Given the description of an element on the screen output the (x, y) to click on. 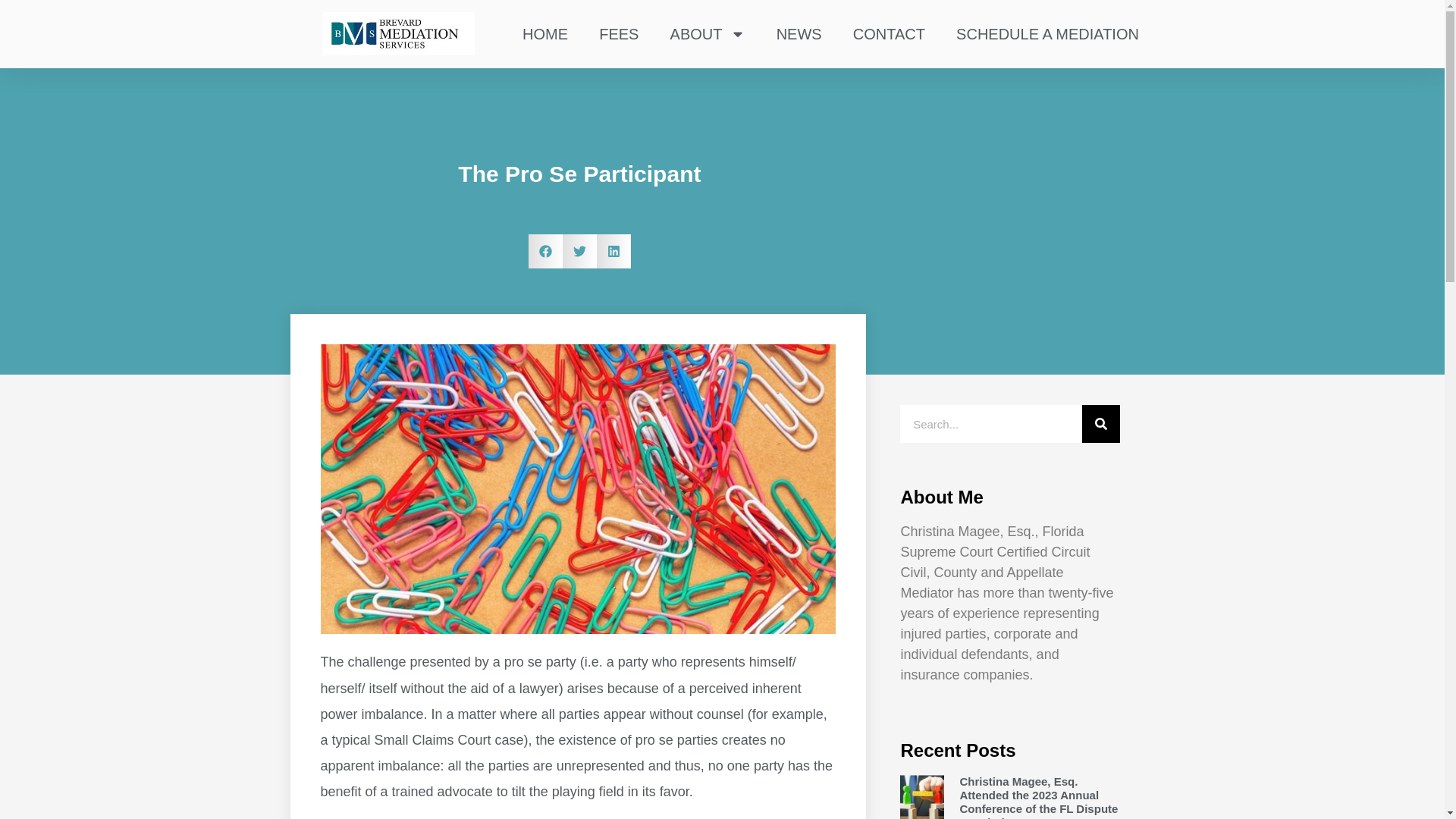
CONTACT (888, 33)
ABOUT (706, 33)
NEWS (798, 33)
SCHEDULE A MEDIATION (1047, 33)
HOME (544, 33)
FEES (618, 33)
